Given the description of an element on the screen output the (x, y) to click on. 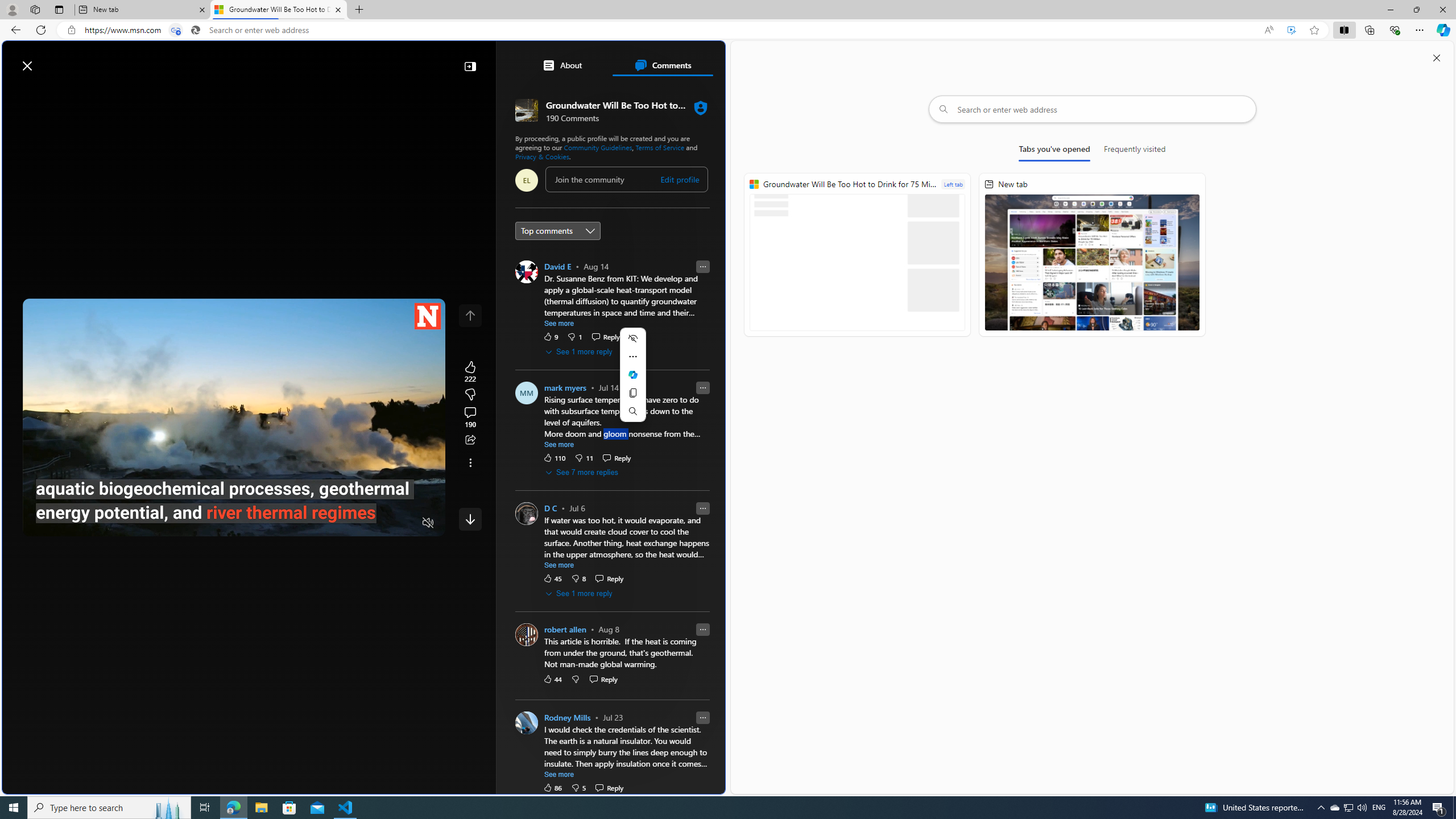
Copy (632, 393)
Pause (39, 523)
David E (557, 266)
Reply Reply Comment (608, 787)
Profile Picture (526, 722)
Privacy & Cookies (542, 156)
Enhance video (1291, 29)
